Given the description of an element on the screen output the (x, y) to click on. 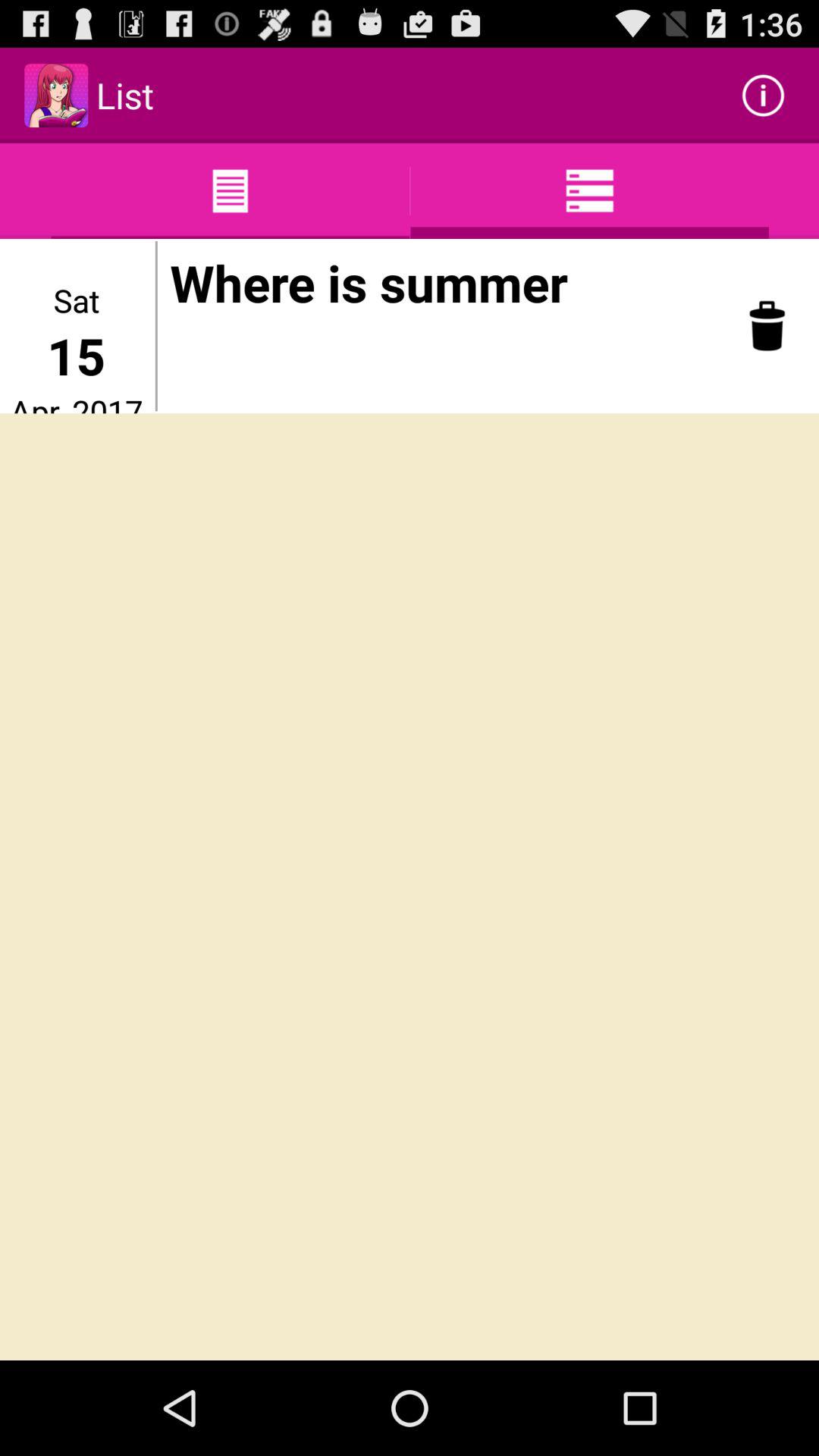
swipe to the sat icon (76, 299)
